Given the description of an element on the screen output the (x, y) to click on. 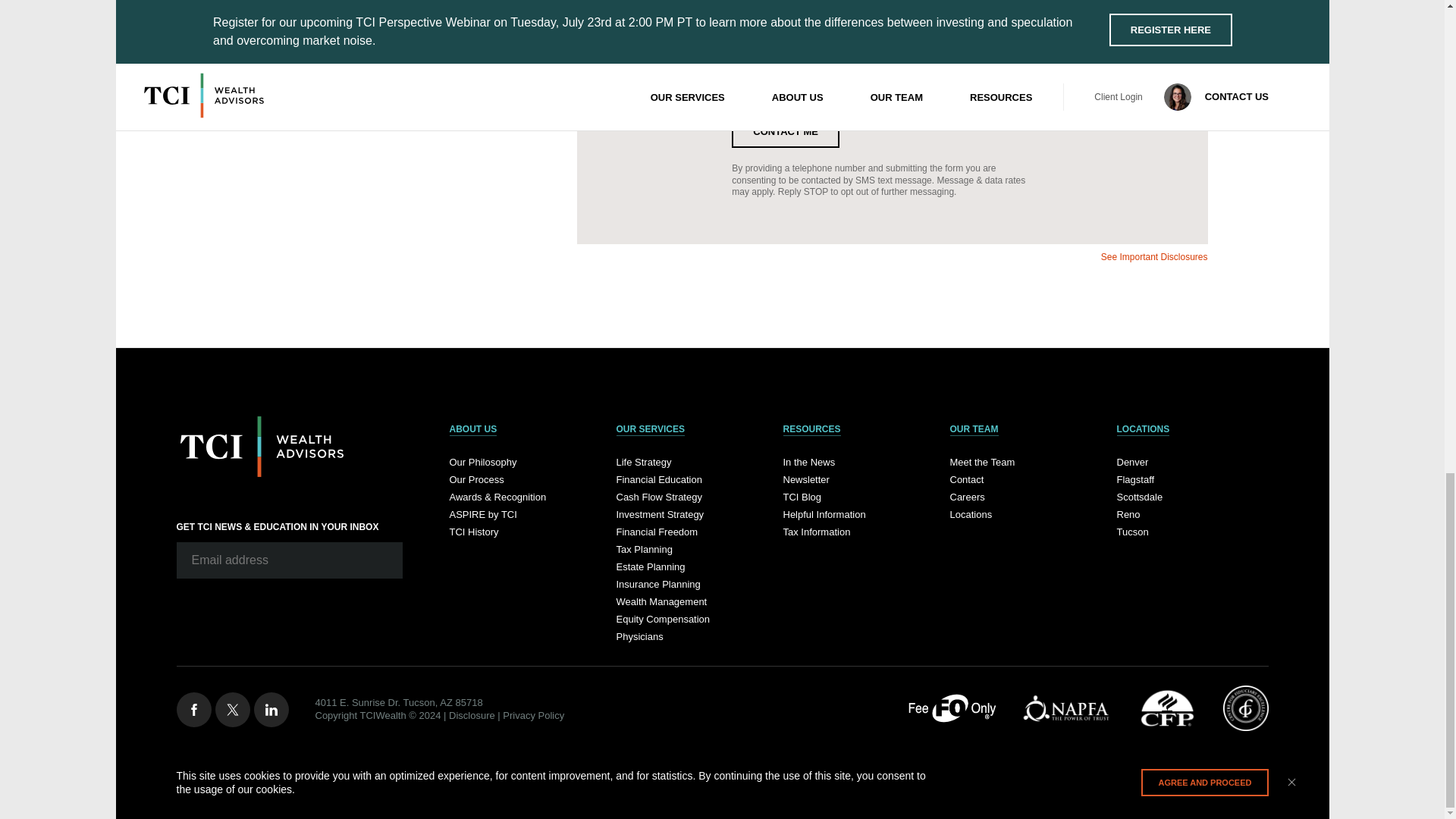
Contact Me (786, 131)
